Given the description of an element on the screen output the (x, y) to click on. 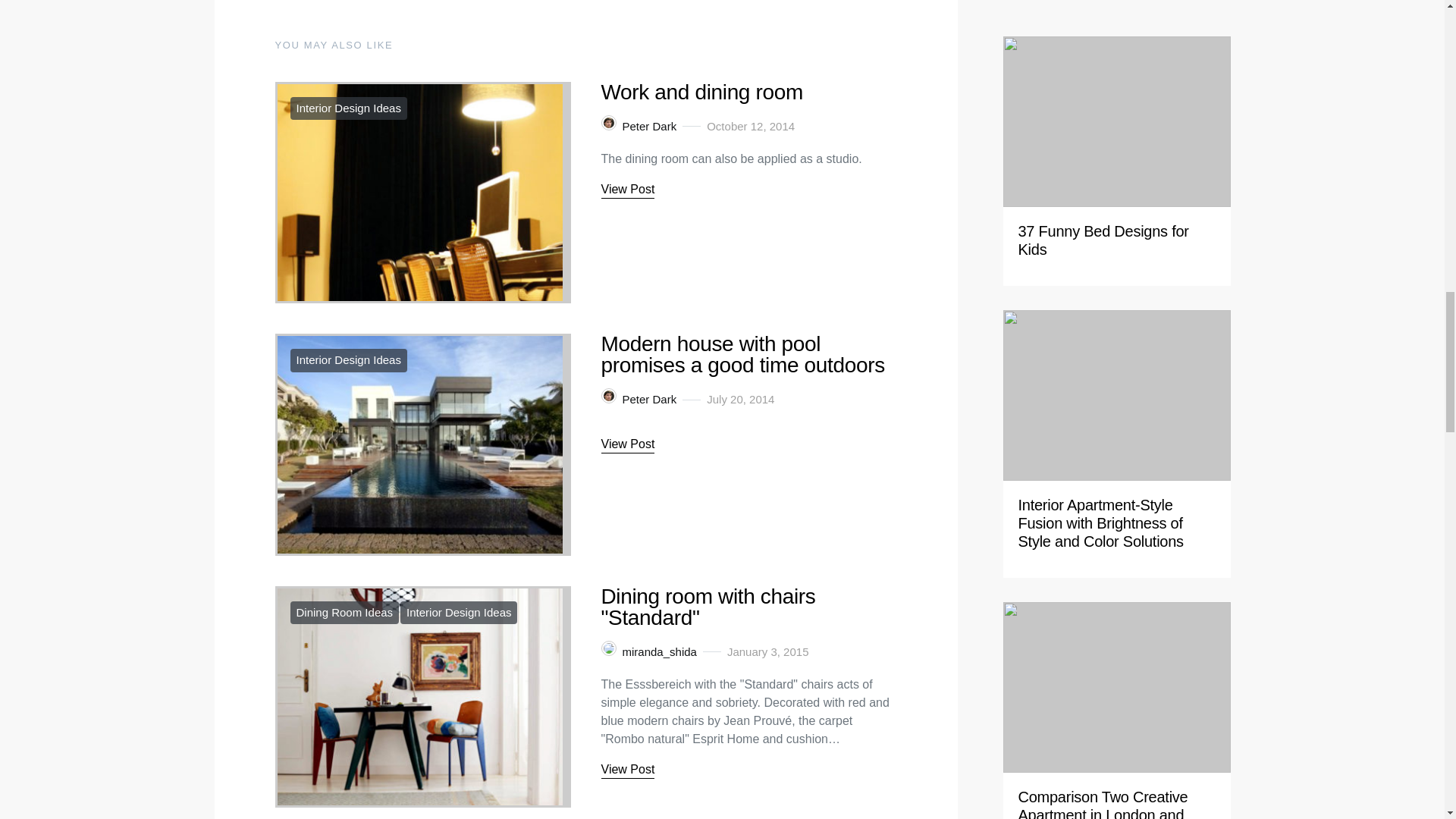
View all posts by Peter Dark (638, 399)
Flowers White Lighting, Snowflower (1093, 232)
View all posts by Peter Dark (638, 126)
